Given the description of an element on the screen output the (x, y) to click on. 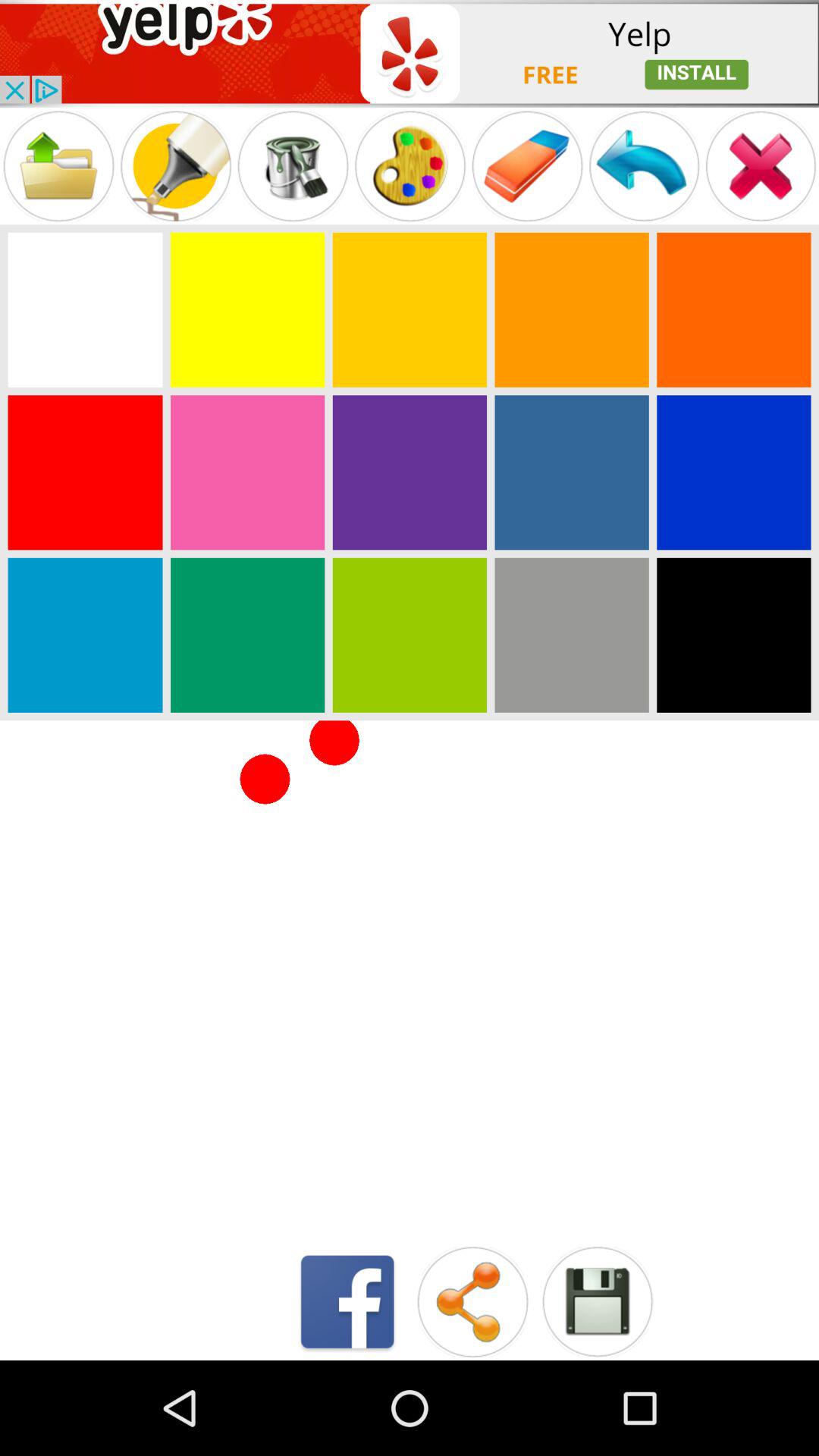
open facebook (347, 1301)
